Given the description of an element on the screen output the (x, y) to click on. 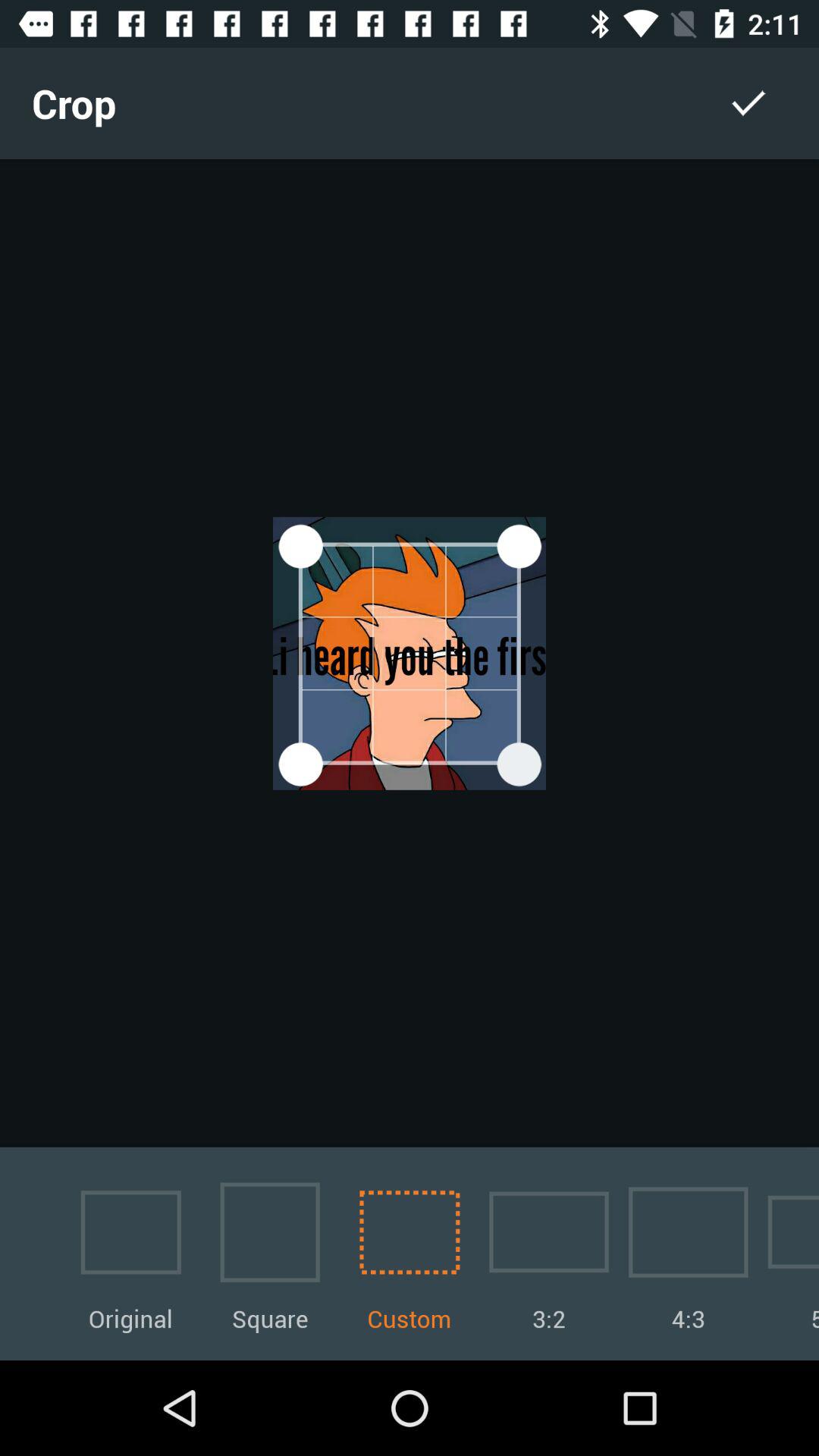
open the icon at the top right corner (748, 102)
